Given the description of an element on the screen output the (x, y) to click on. 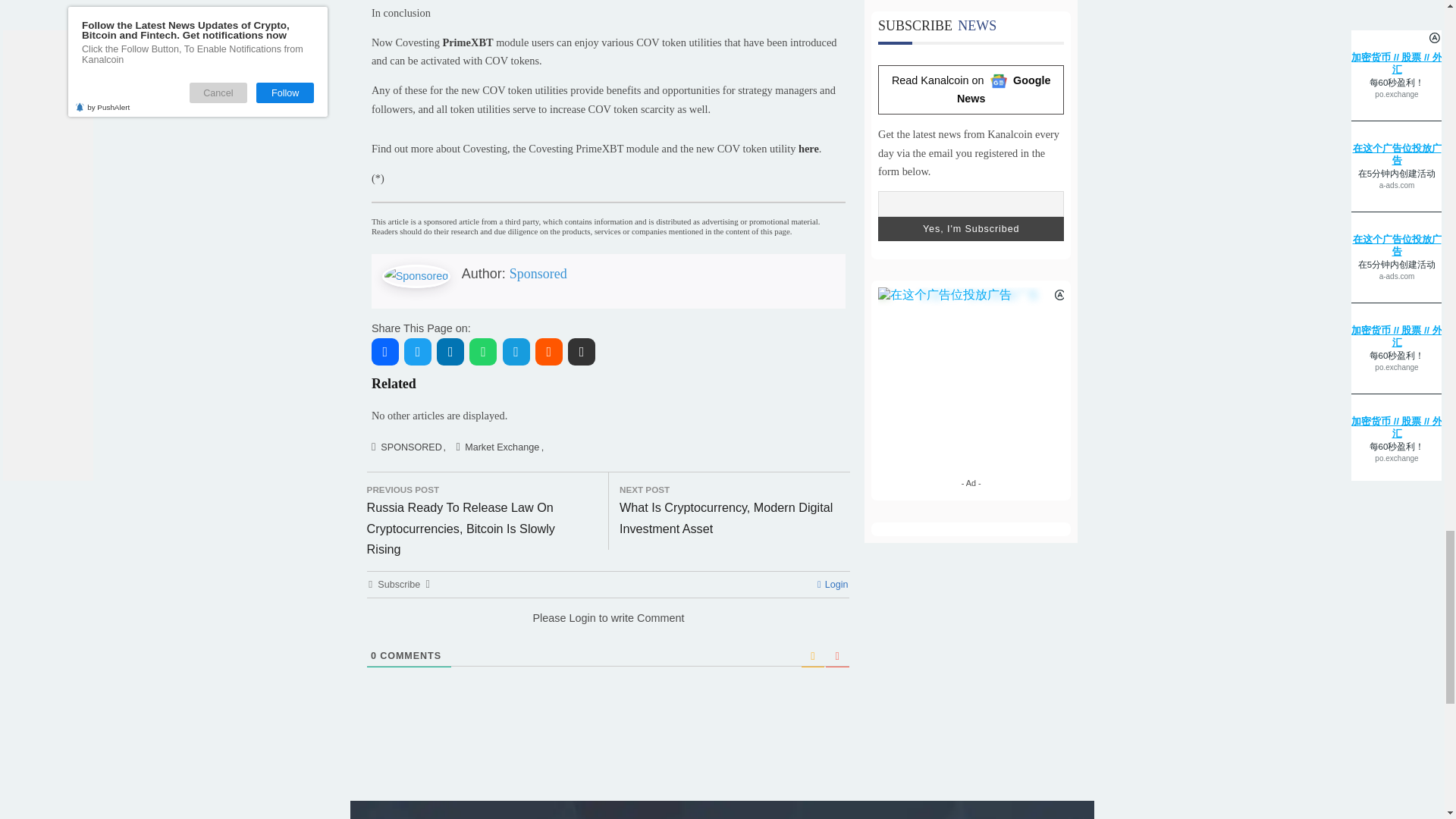
Yes, I'm Subscribed (1078, 527)
Tweet this ! (463, 663)
Telegram (572, 663)
WhatsApp (536, 663)
Submit this to Reddit (609, 663)
Share this on Facebook (427, 663)
Add this to LinkedIn (499, 663)
